Given the description of an element on the screen output the (x, y) to click on. 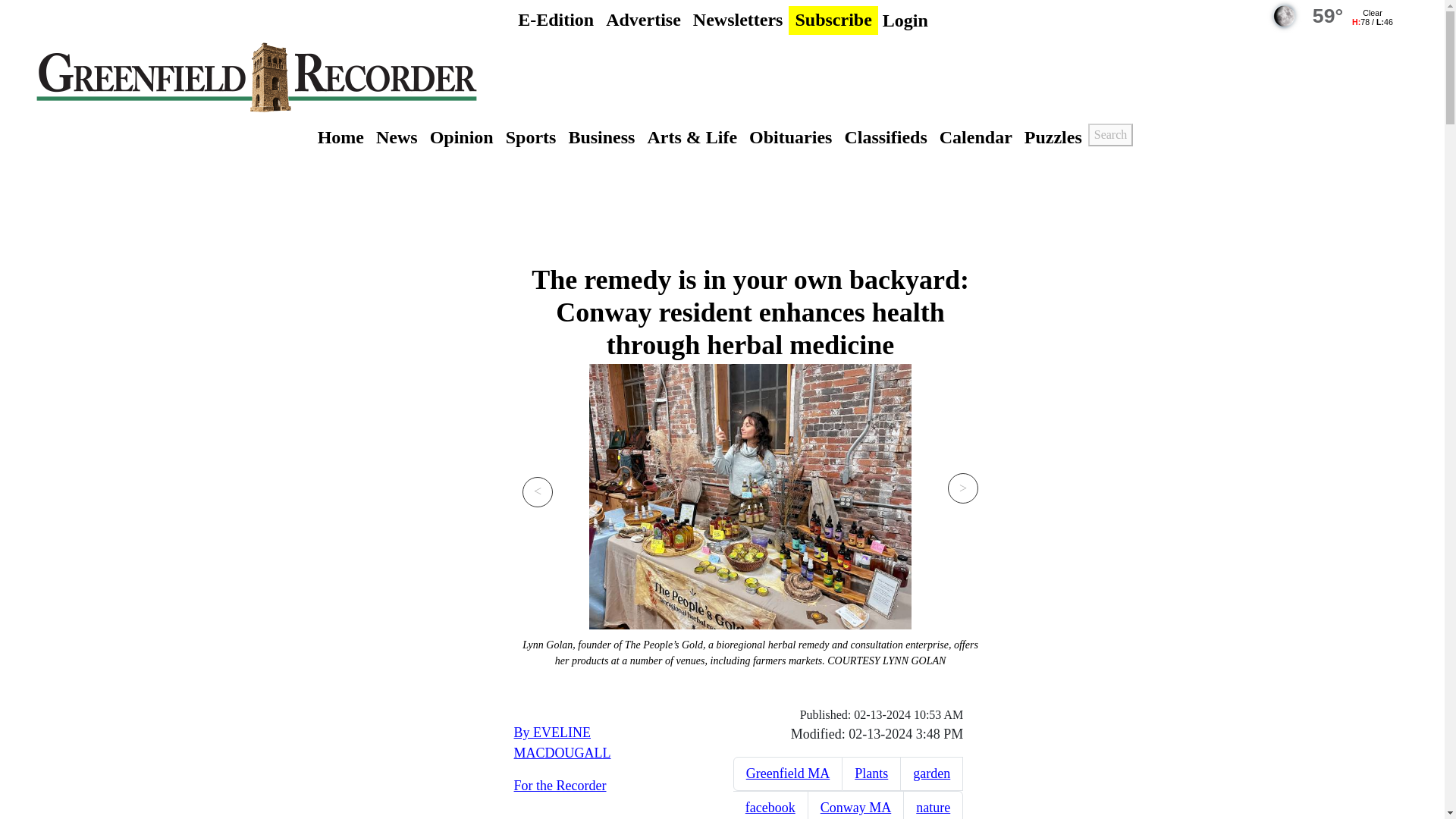
By EVELINE MACDOUGALL (562, 742)
E-Edition (555, 20)
Greenfield MA (787, 773)
Classifieds (885, 137)
News (396, 137)
Subscribe (833, 20)
Plants (871, 773)
Search (1110, 134)
Puzzles (1052, 137)
Login (905, 20)
